Given the description of an element on the screen output the (x, y) to click on. 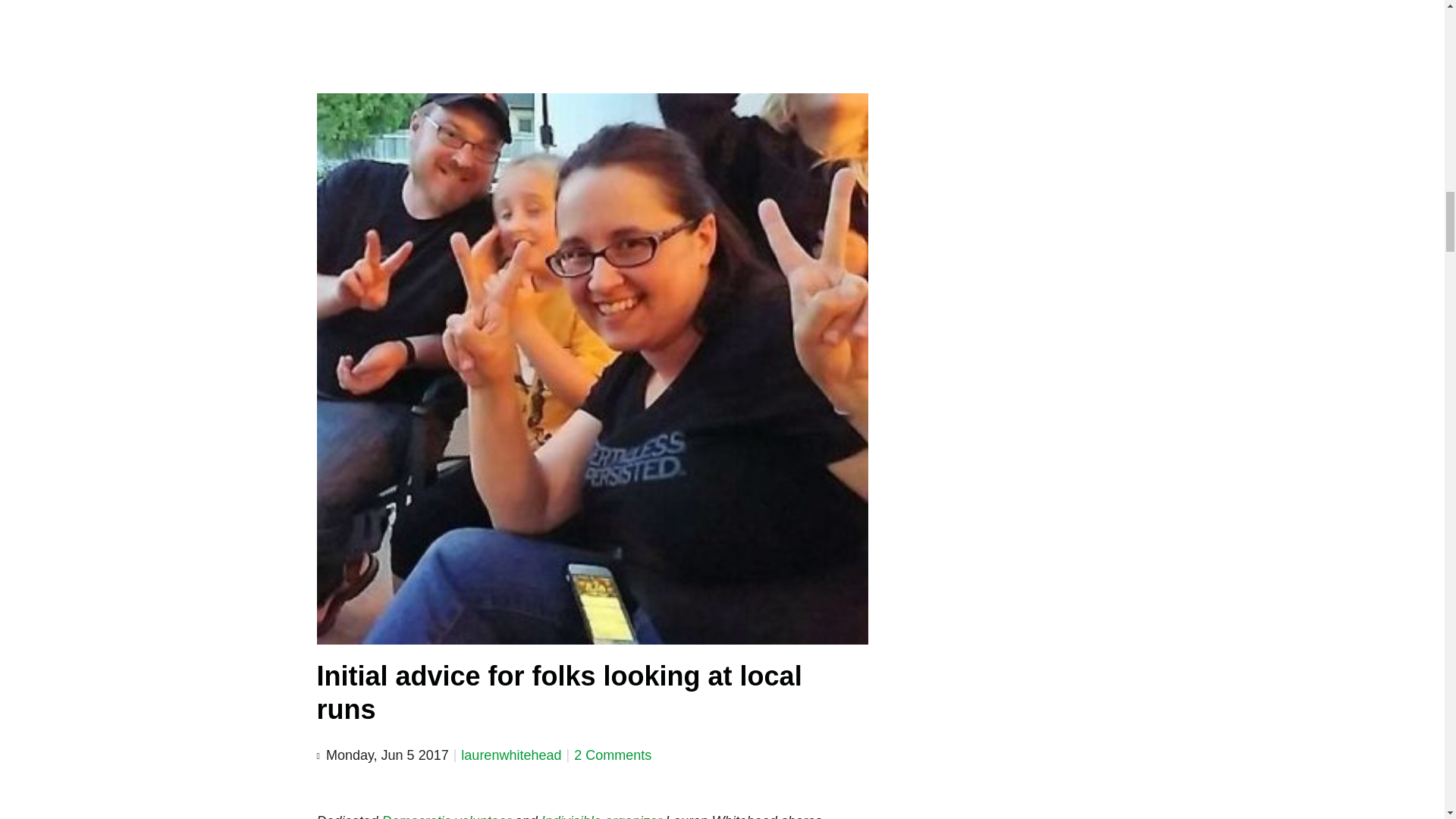
laurenwhitehead (510, 754)
comments (611, 754)
Indivisible organizer (601, 816)
Democratic volunteer (446, 816)
Initial advice for folks looking at local runs (559, 692)
2 Comments (611, 754)
